Given the description of an element on the screen output the (x, y) to click on. 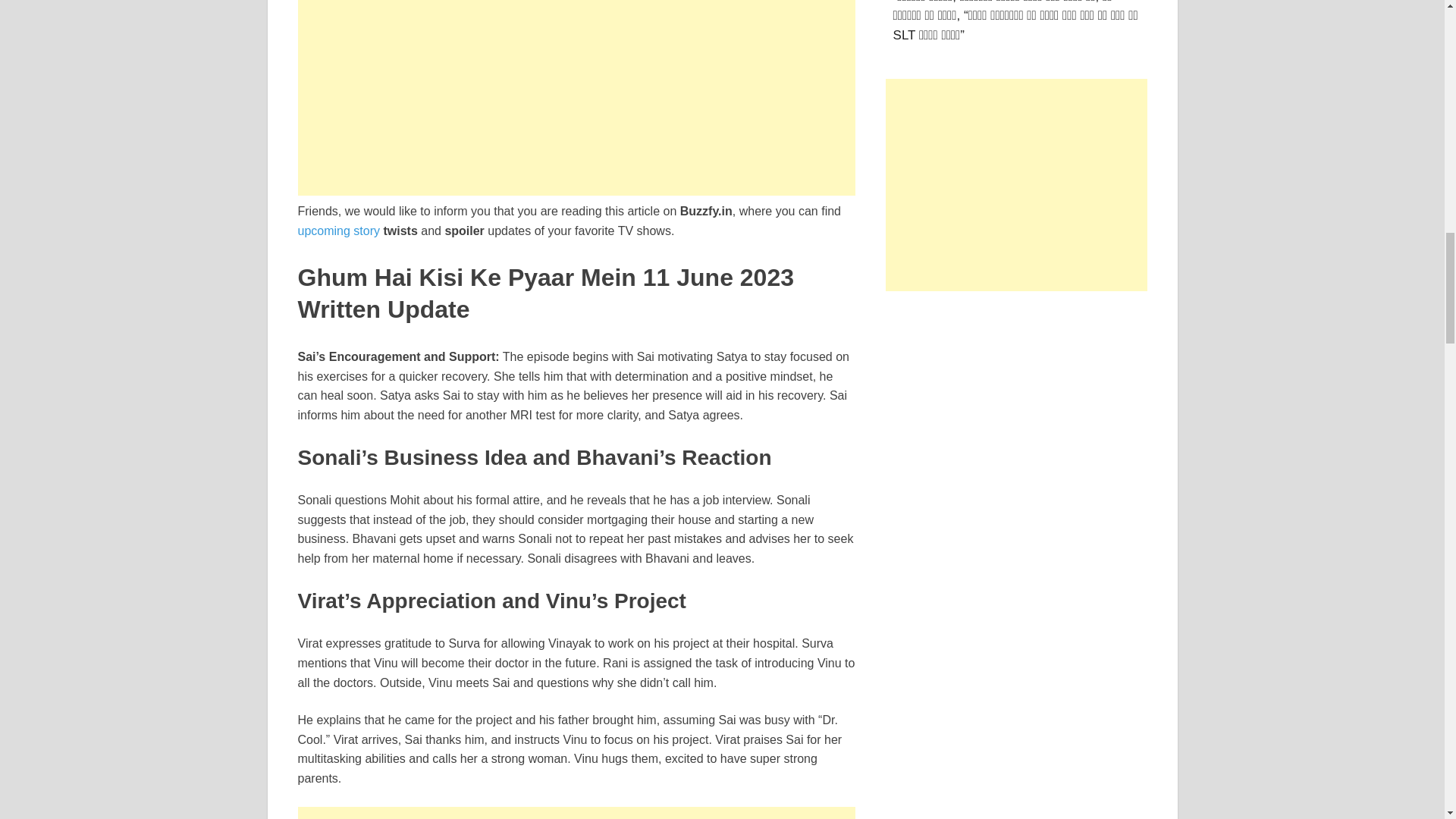
upcoming story (338, 230)
Advertisement (1016, 184)
Advertisement (575, 97)
Advertisement (575, 812)
